Given the description of an element on the screen output the (x, y) to click on. 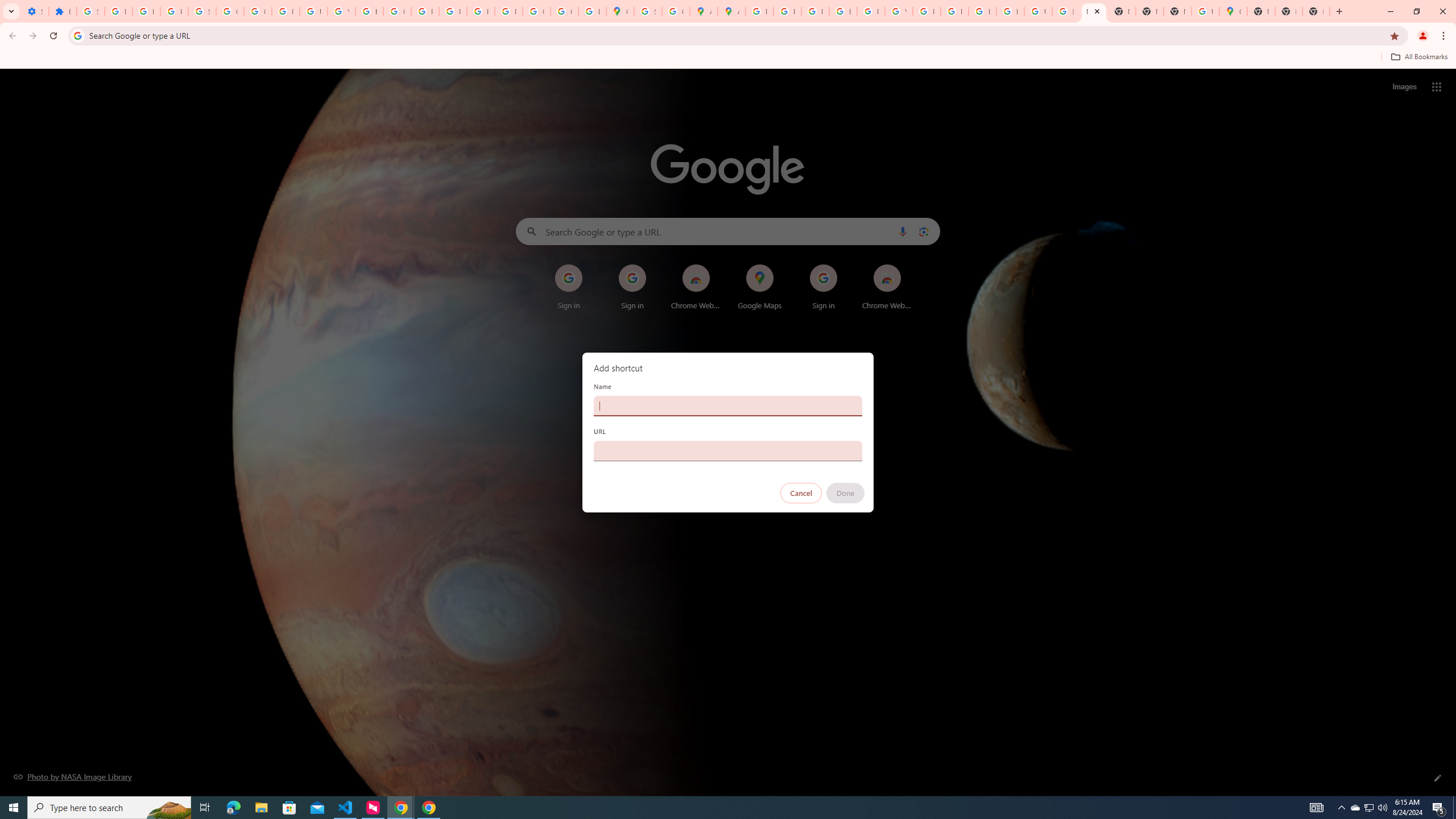
Settings - On startup (34, 11)
URL (727, 450)
New Tab (1316, 11)
Learn how to find your photos - Google Photos Help (146, 11)
Name (727, 405)
Google Maps (1233, 11)
Privacy Help Center - Policies Help (787, 11)
New Tab (1177, 11)
New Tab (1288, 11)
https://scholar.google.com/ (369, 11)
